Given the description of an element on the screen output the (x, y) to click on. 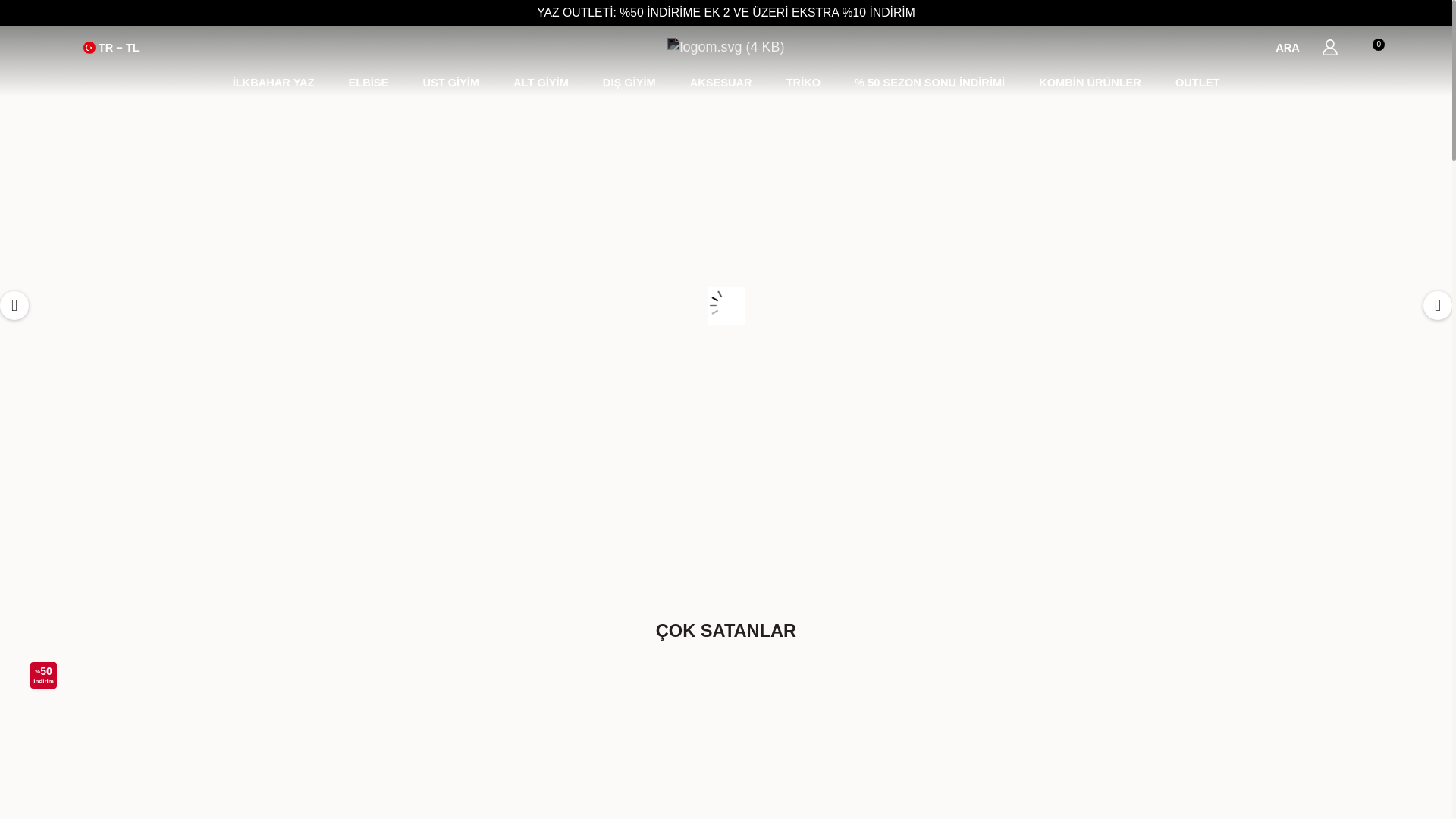
ARA (1265, 46)
